Given the description of an element on the screen output the (x, y) to click on. 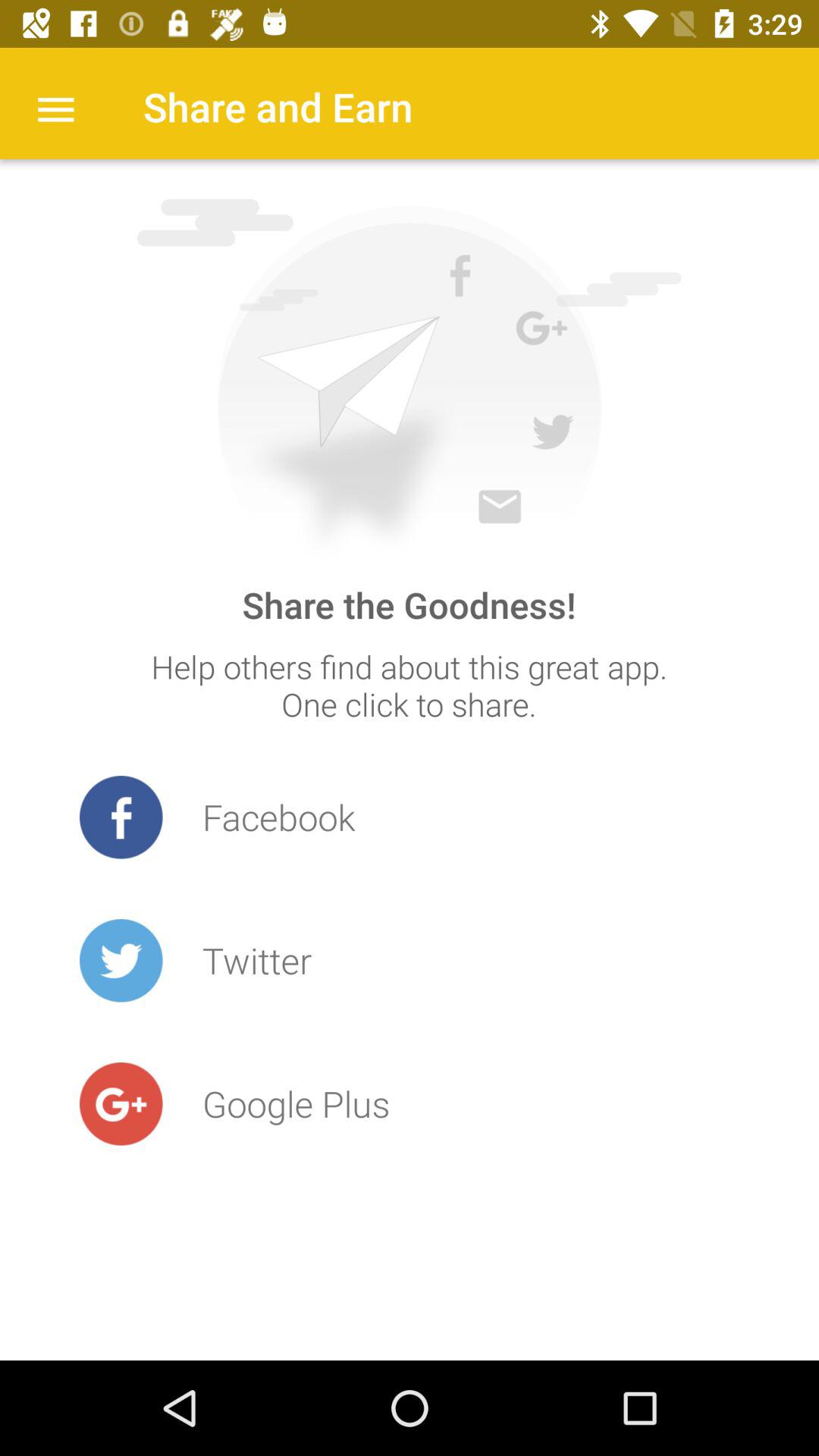
choose the item at the top left corner (55, 107)
